Given the description of an element on the screen output the (x, y) to click on. 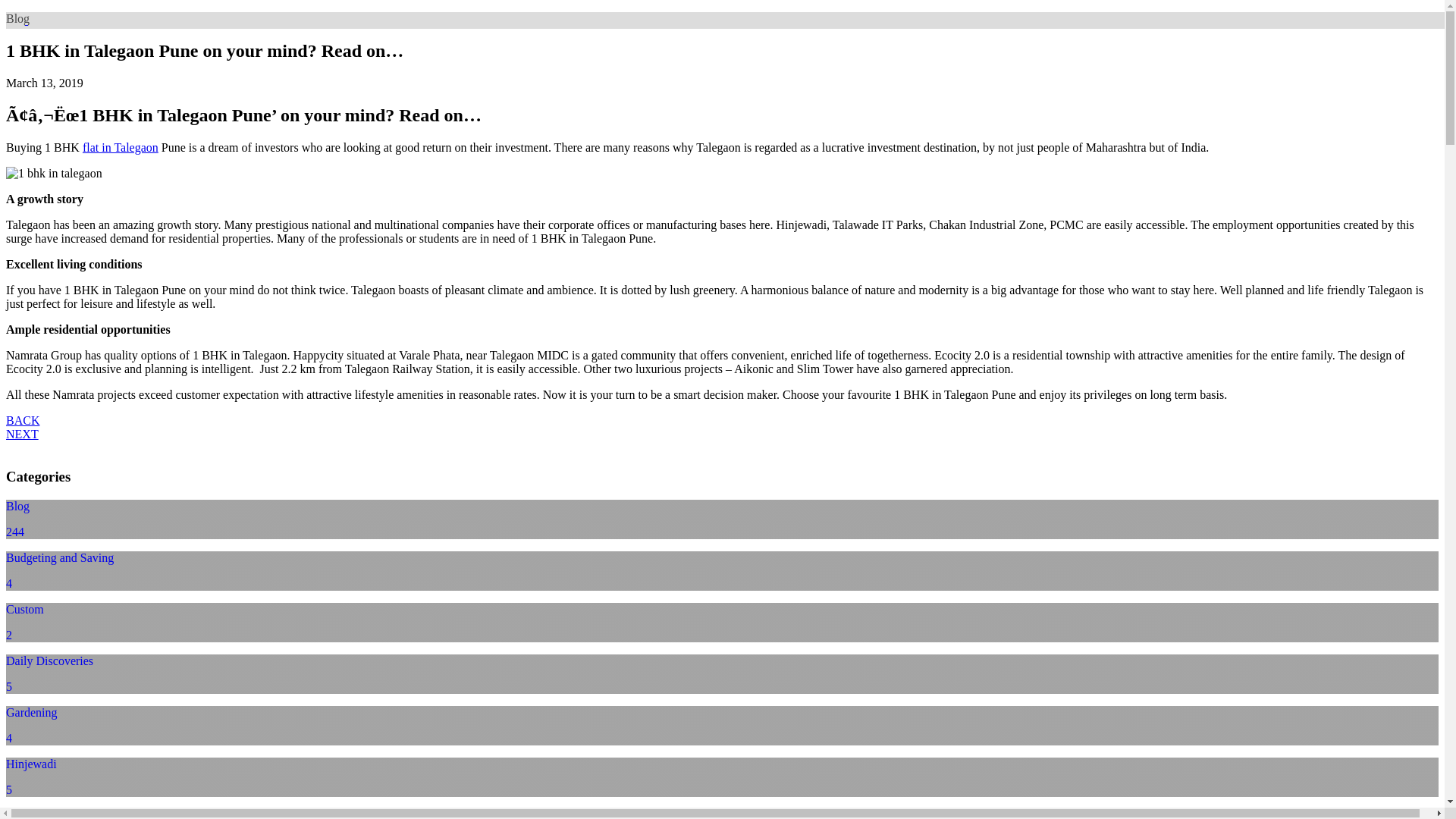
CONTACT (1142, 30)
PROJECT (504, 30)
ABOUT (274, 30)
BLOG (914, 30)
Flats in Talegaon (120, 146)
